Given the description of an element on the screen output the (x, y) to click on. 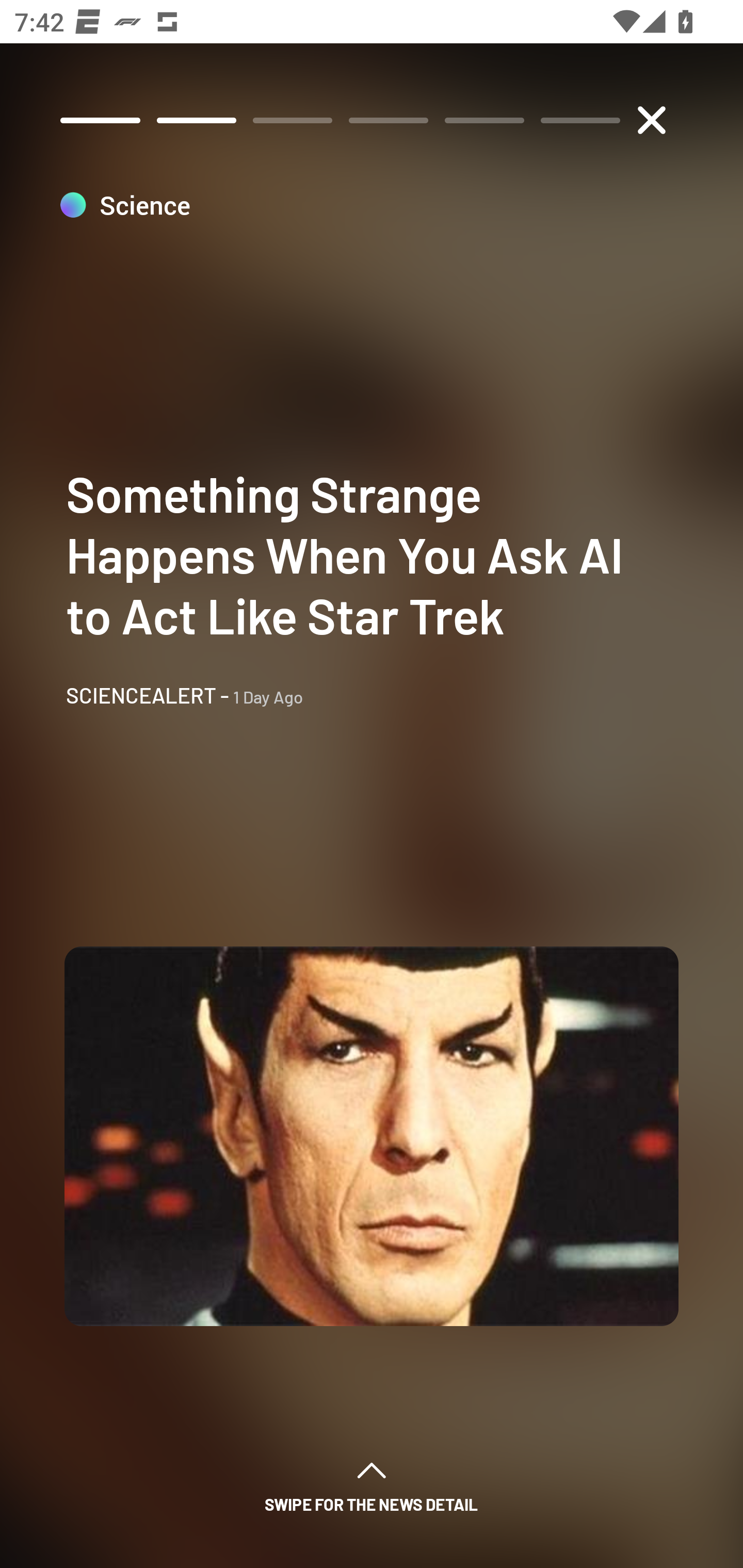
Close Highlights (651, 119)
